Given the description of an element on the screen output the (x, y) to click on. 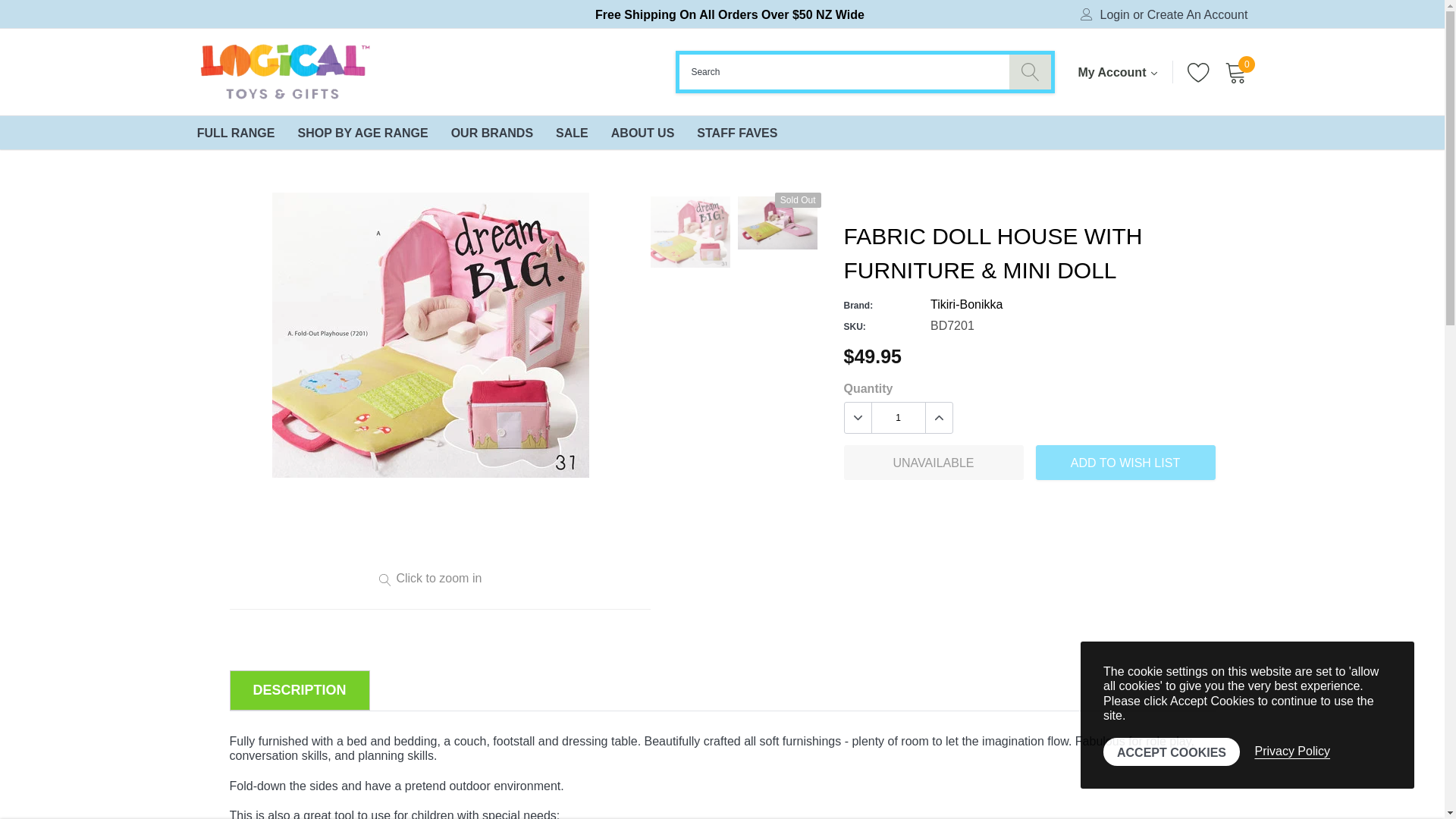
1 (898, 417)
Tikiri-Bonikka (966, 304)
Login (1114, 15)
Create An Account (1197, 15)
search (1030, 71)
